Given the description of an element on the screen output the (x, y) to click on. 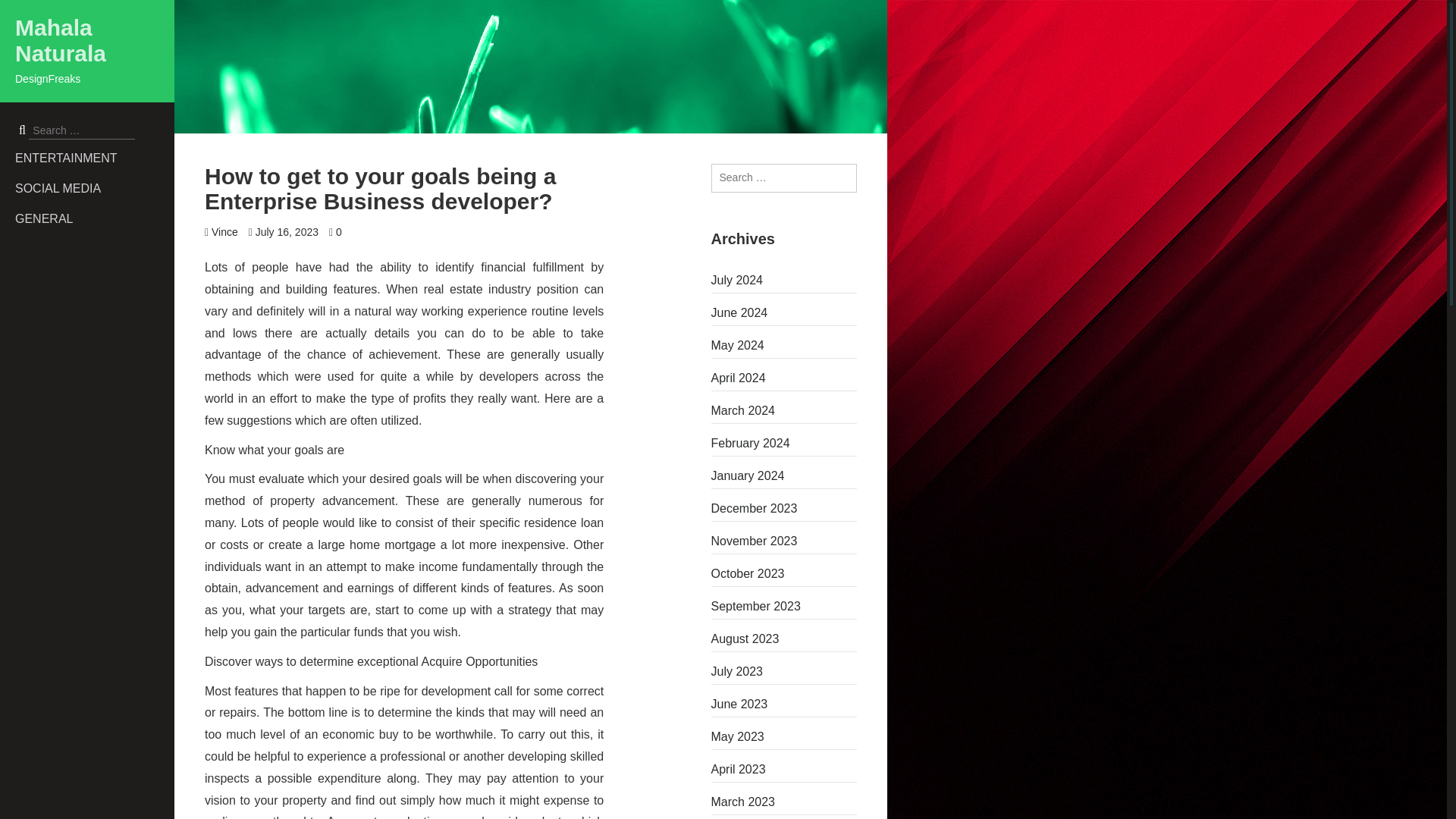
SOCIAL MEDIA (94, 188)
October 2023 (784, 573)
March 2023 (784, 802)
June 2023 (784, 704)
Mahala Naturala (60, 40)
Search (24, 11)
November 2023 (784, 541)
December 2023 (784, 508)
August 2023 (784, 639)
Posts by Vince (224, 232)
April 2024 (784, 378)
Vince (224, 232)
May 2023 (784, 736)
July 2024 (784, 280)
GENERAL (94, 218)
